Given the description of an element on the screen output the (x, y) to click on. 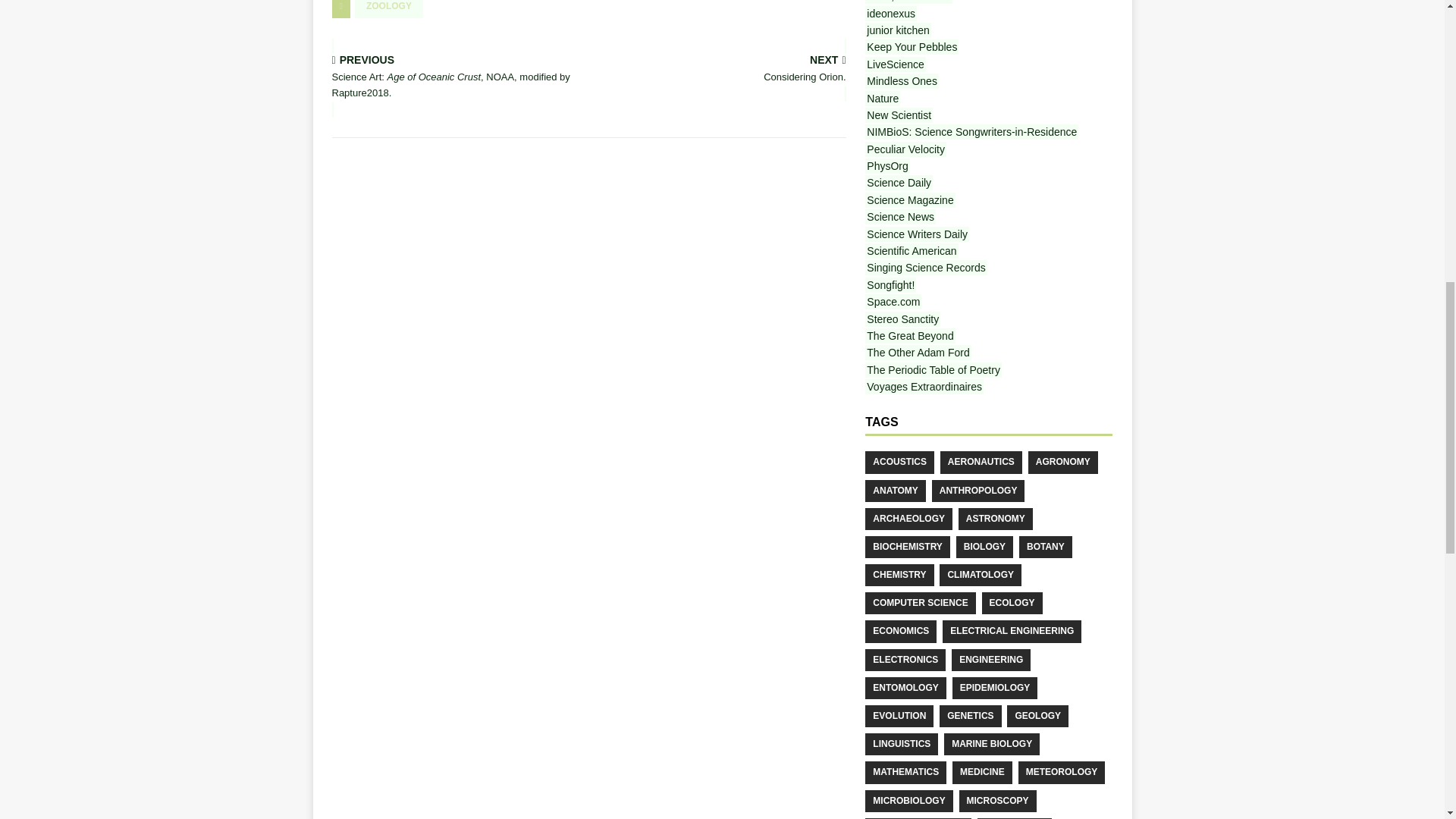
Keep Your Pebbles (911, 46)
Nature (881, 98)
New Scientist (898, 114)
NIMBioS: Science Songwriters-in-Residence (720, 69)
LiveScience (971, 131)
ZOOLOGY (895, 64)
Hello, Poindexter! (389, 9)
Mindless Ones (908, 2)
